Given the description of an element on the screen output the (x, y) to click on. 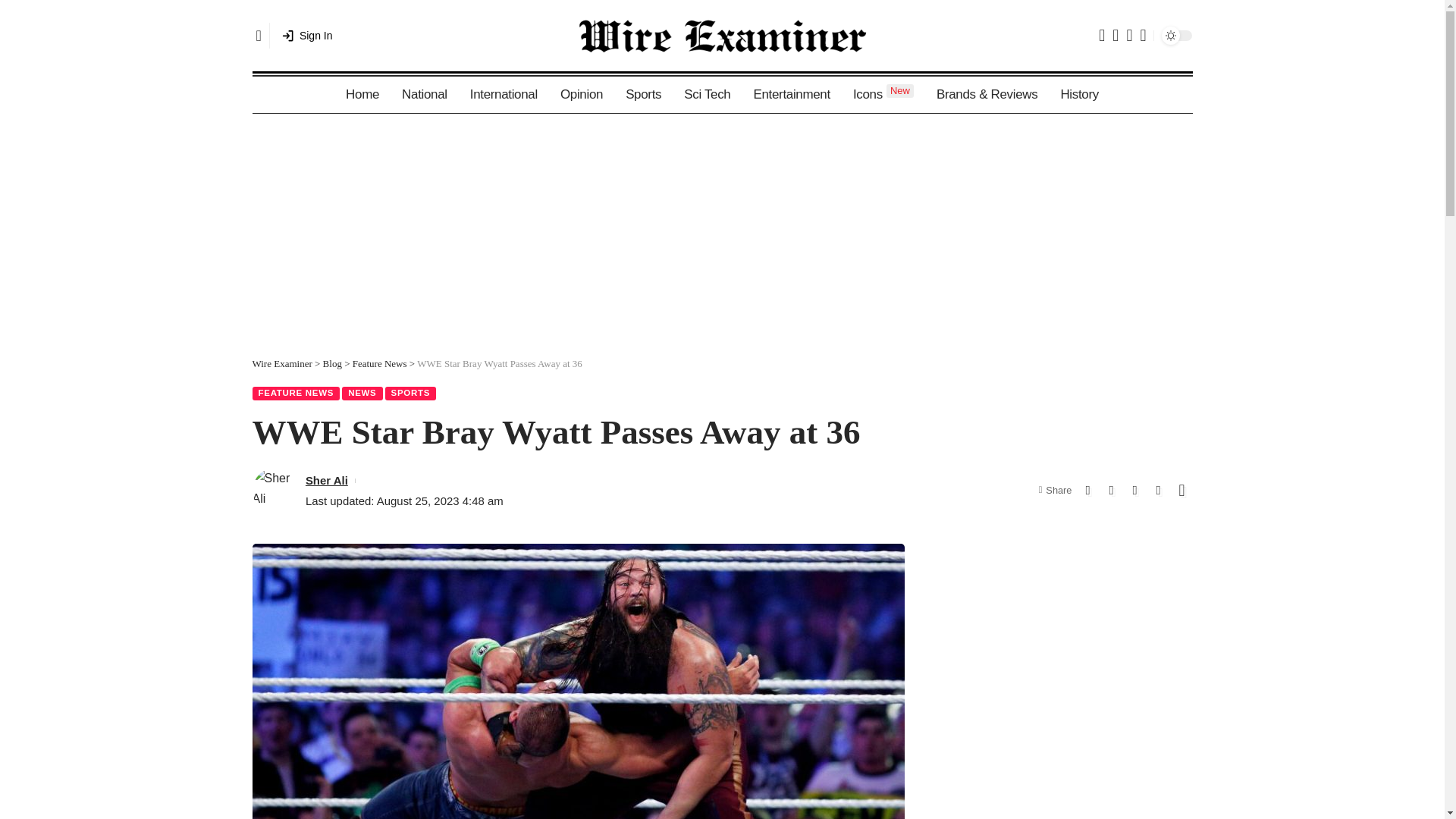
Go to Wire Examiner. (281, 363)
International (503, 94)
History (1078, 94)
Go to Blog. (332, 363)
Sci Tech (706, 94)
National (424, 94)
Opinion (581, 94)
Home (362, 94)
Sports (643, 94)
